Given the description of an element on the screen output the (x, y) to click on. 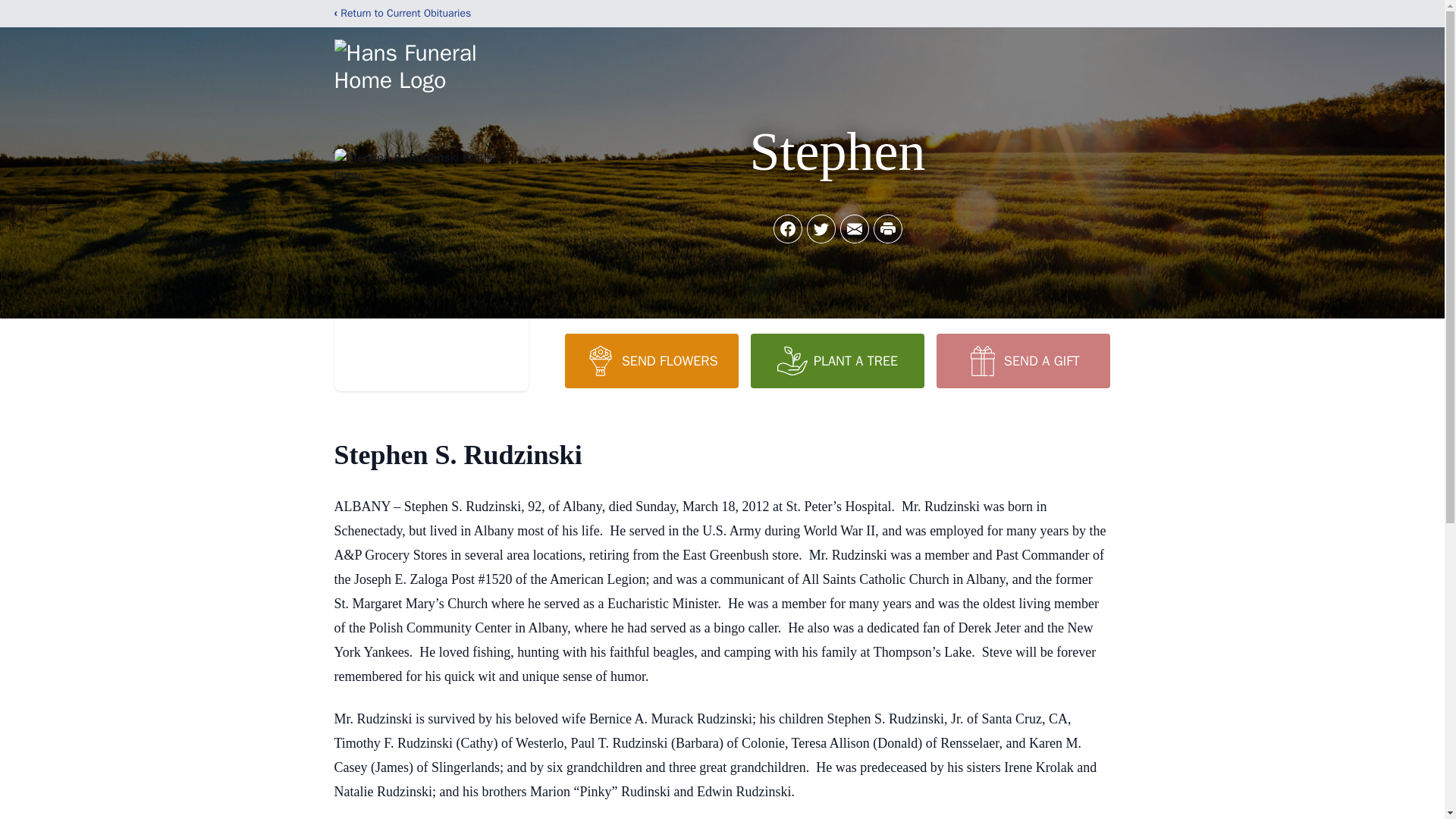
SEND A GIFT (1022, 360)
SEND FLOWERS (651, 360)
PLANT A TREE (837, 360)
